Given the description of an element on the screen output the (x, y) to click on. 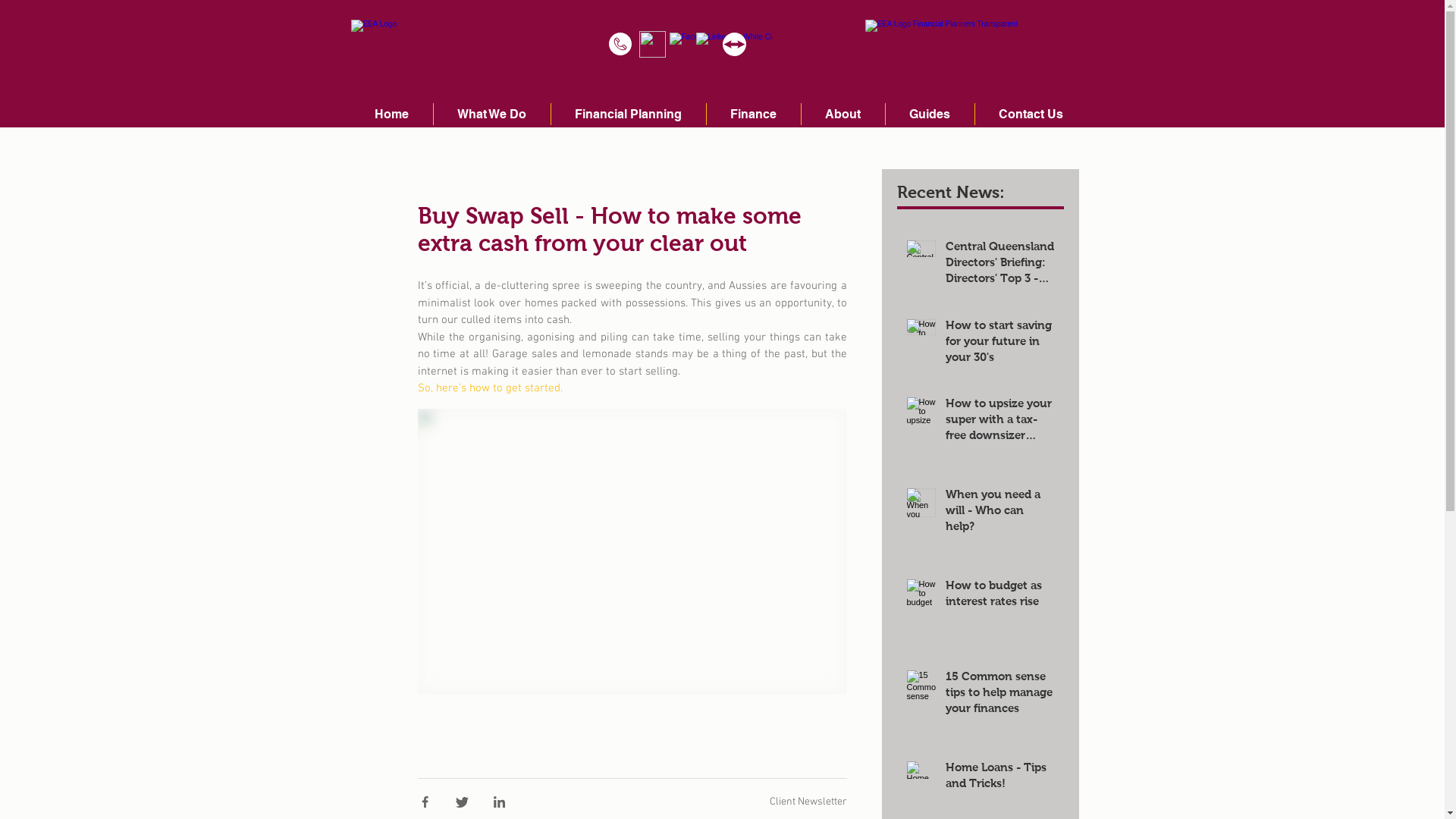
How to start saving for your future in your 30's Element type: text (999, 345)
Contact Us Element type: text (1031, 114)
Financial Planning Element type: text (627, 114)
Home Loans - Tips and Tricks! Element type: text (999, 779)
What We Do Element type: text (491, 114)
15 Common sense tips to help manage your finances Element type: text (999, 696)
How to budget as interest rates rise Element type: text (999, 597)
When you need a will - Who can help? Element type: text (999, 514)
Client Newsletter Element type: text (807, 801)
Guides Element type: text (929, 114)
About Element type: text (842, 114)
Home Element type: text (391, 114)
Finance Element type: text (753, 114)
